Given the description of an element on the screen output the (x, y) to click on. 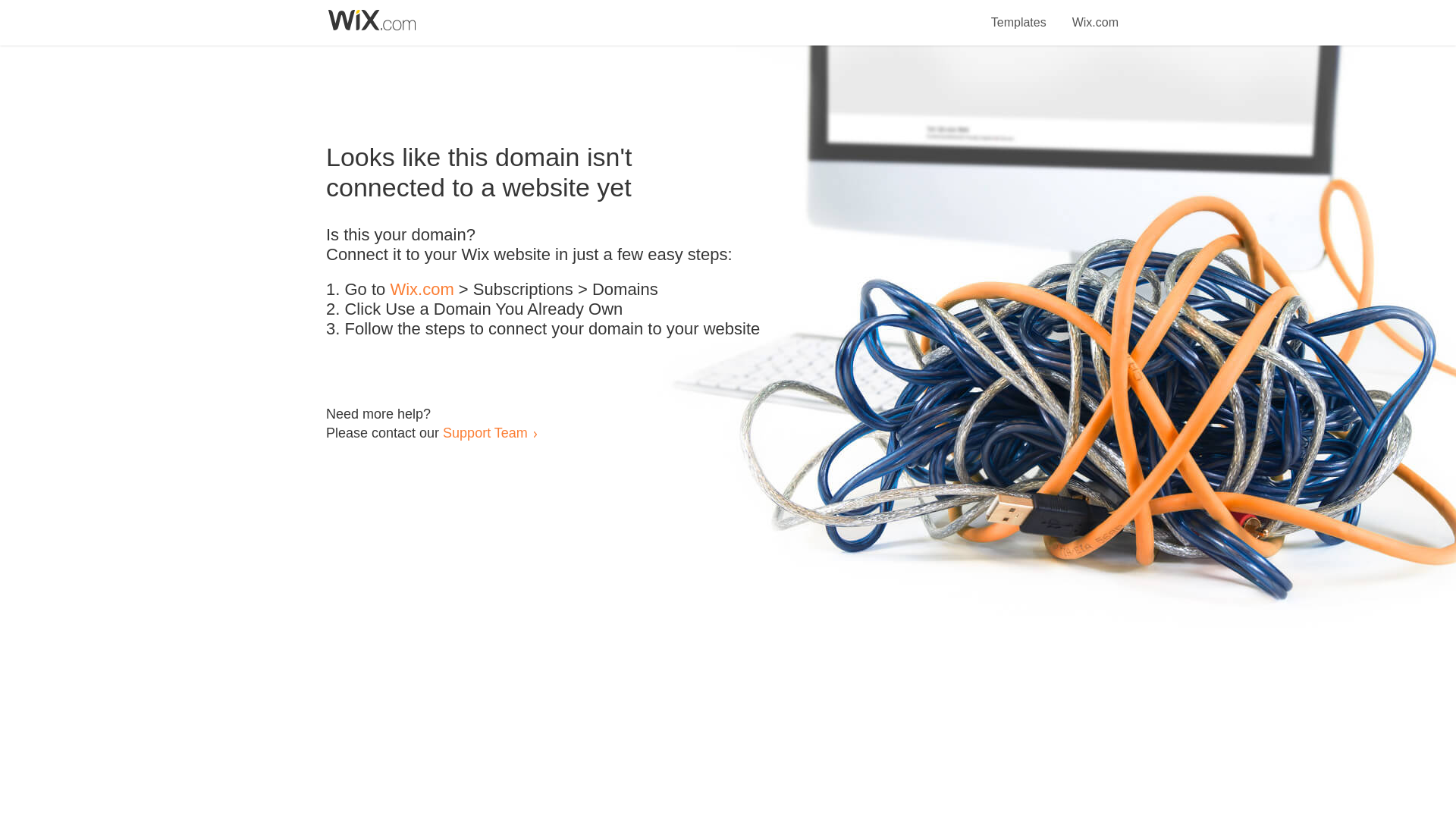
Wix.com (1095, 14)
Templates (1018, 14)
Wix.com (421, 289)
Support Team (484, 432)
